Given the description of an element on the screen output the (x, y) to click on. 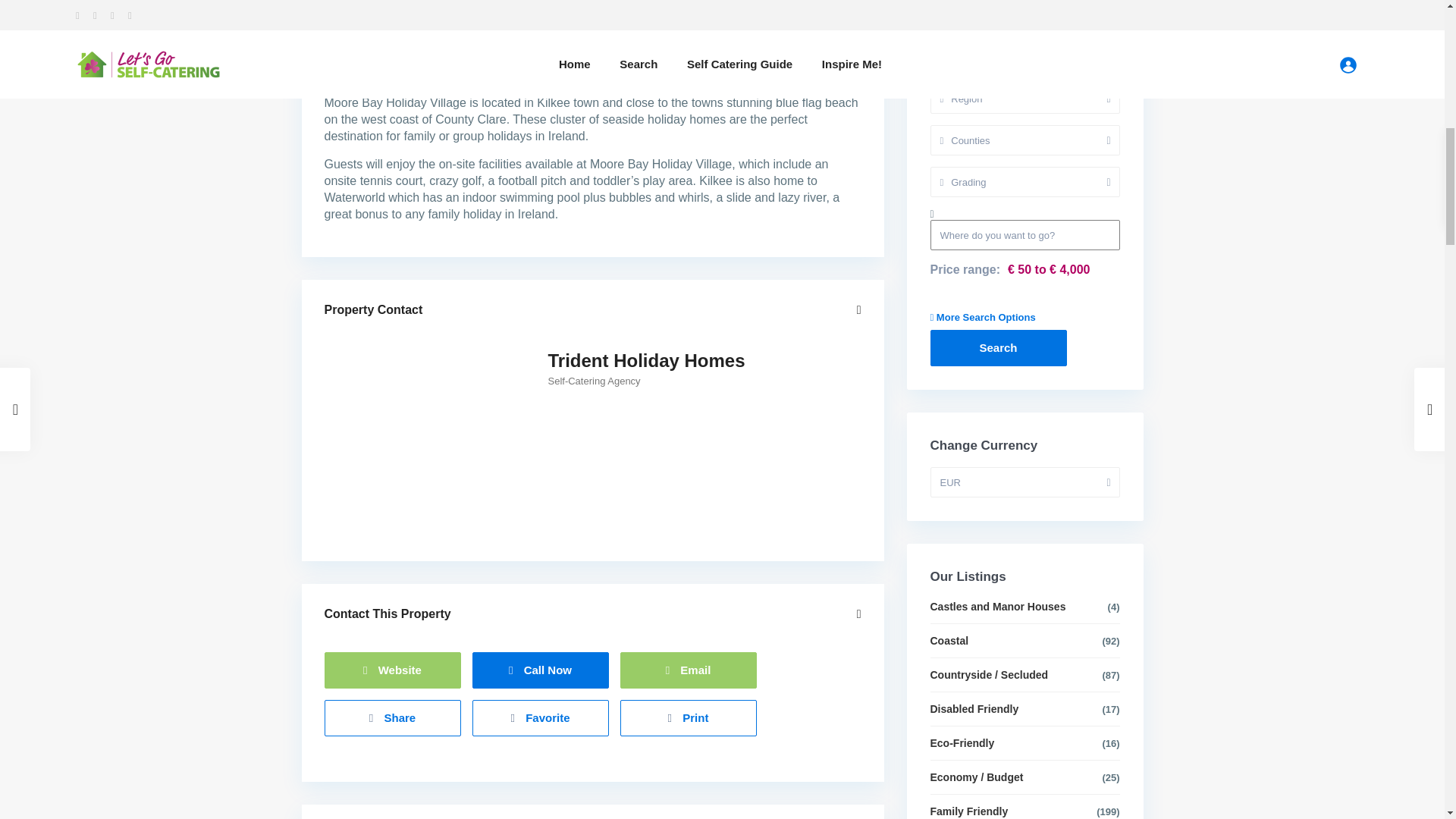
Trident Holiday Homes (645, 360)
Property Description (592, 67)
Property Contact (592, 310)
